Given the description of an element on the screen output the (x, y) to click on. 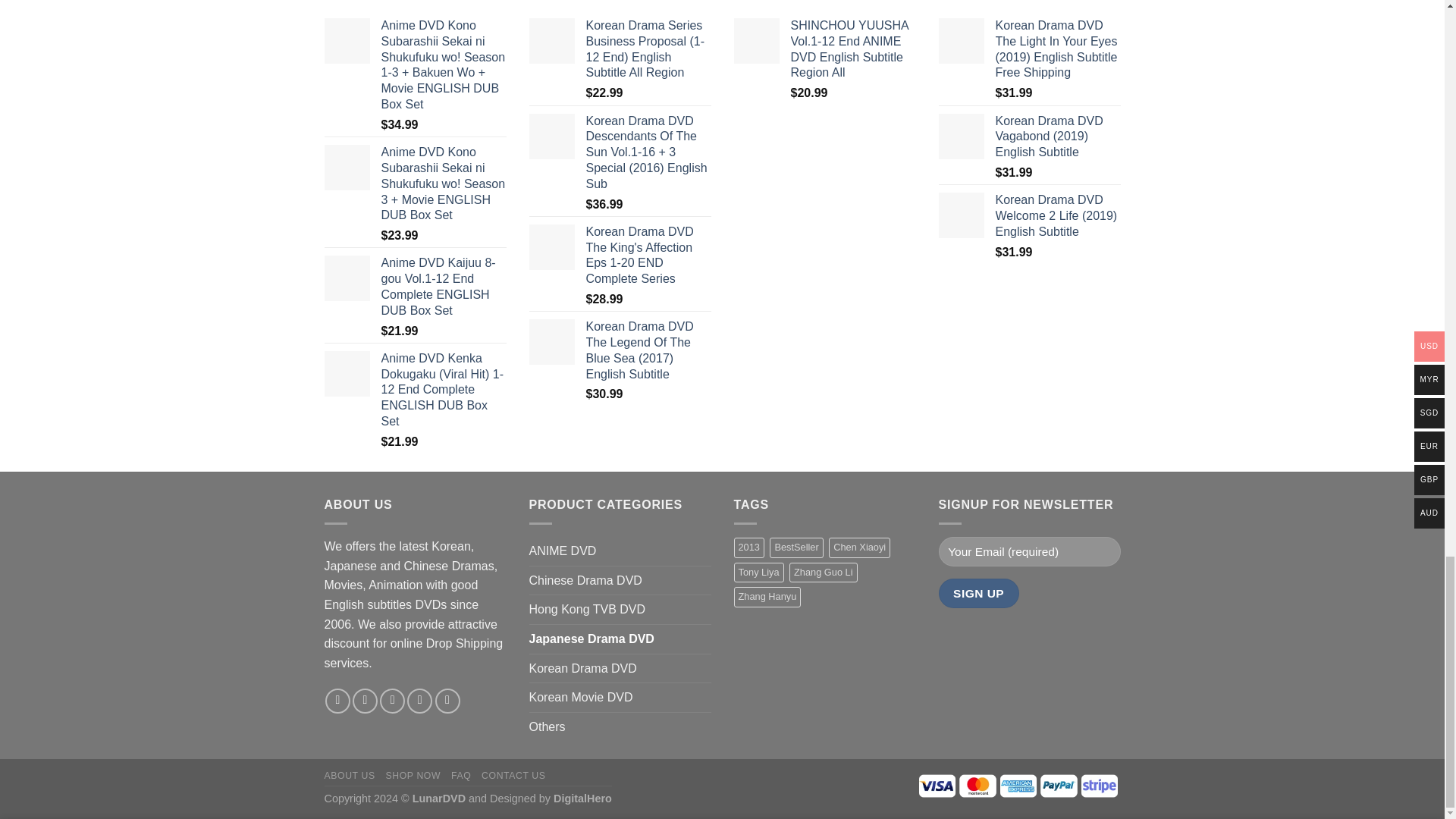
Sign Up (979, 593)
